Given the description of an element on the screen output the (x, y) to click on. 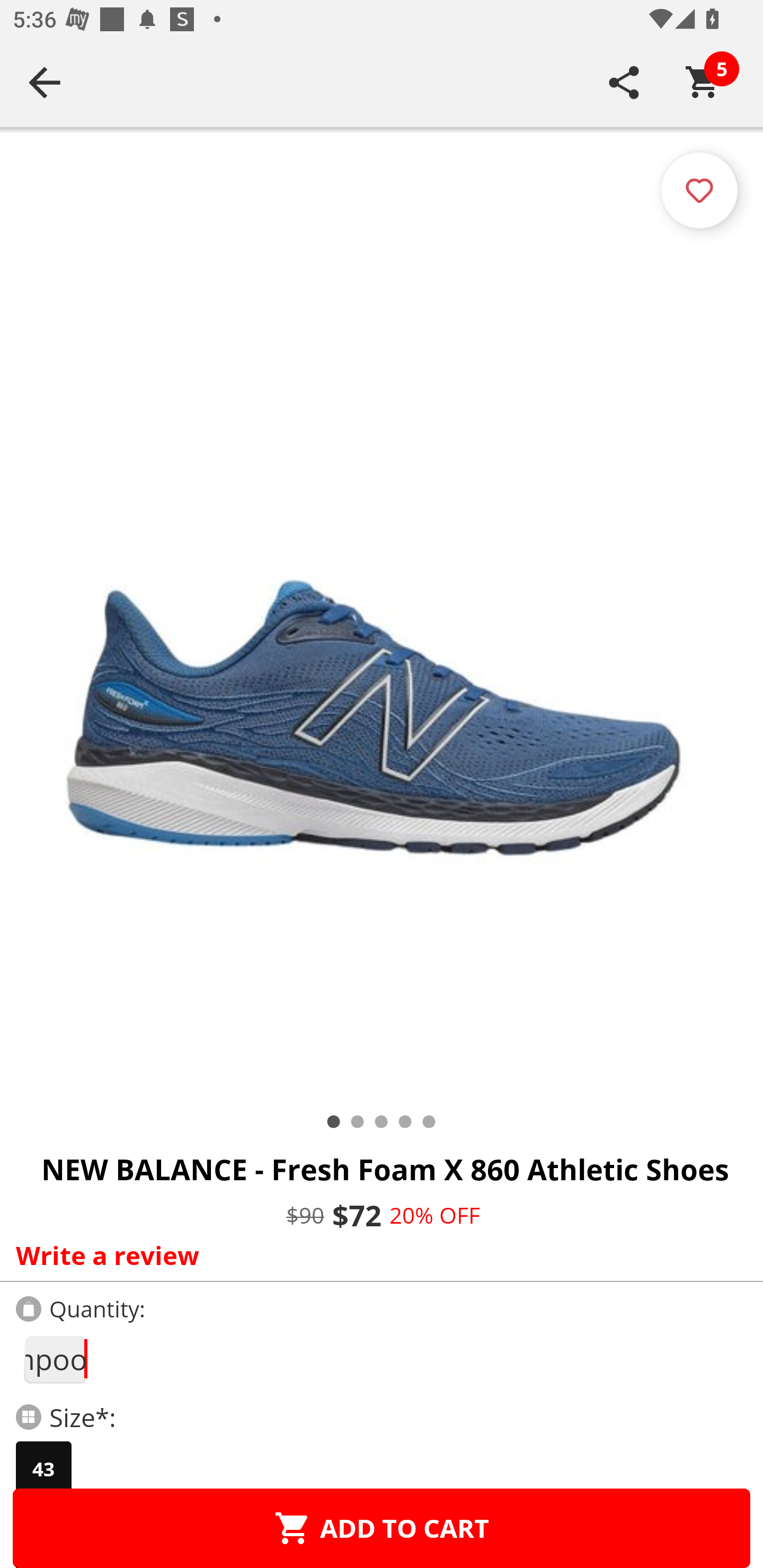
Navigate up (44, 82)
SHARE (623, 82)
Cart (703, 81)
Write a review (377, 1255)
1shampoo (55, 1358)
43 (43, 1468)
ADD TO CART (381, 1528)
